Given the description of an element on the screen output the (x, y) to click on. 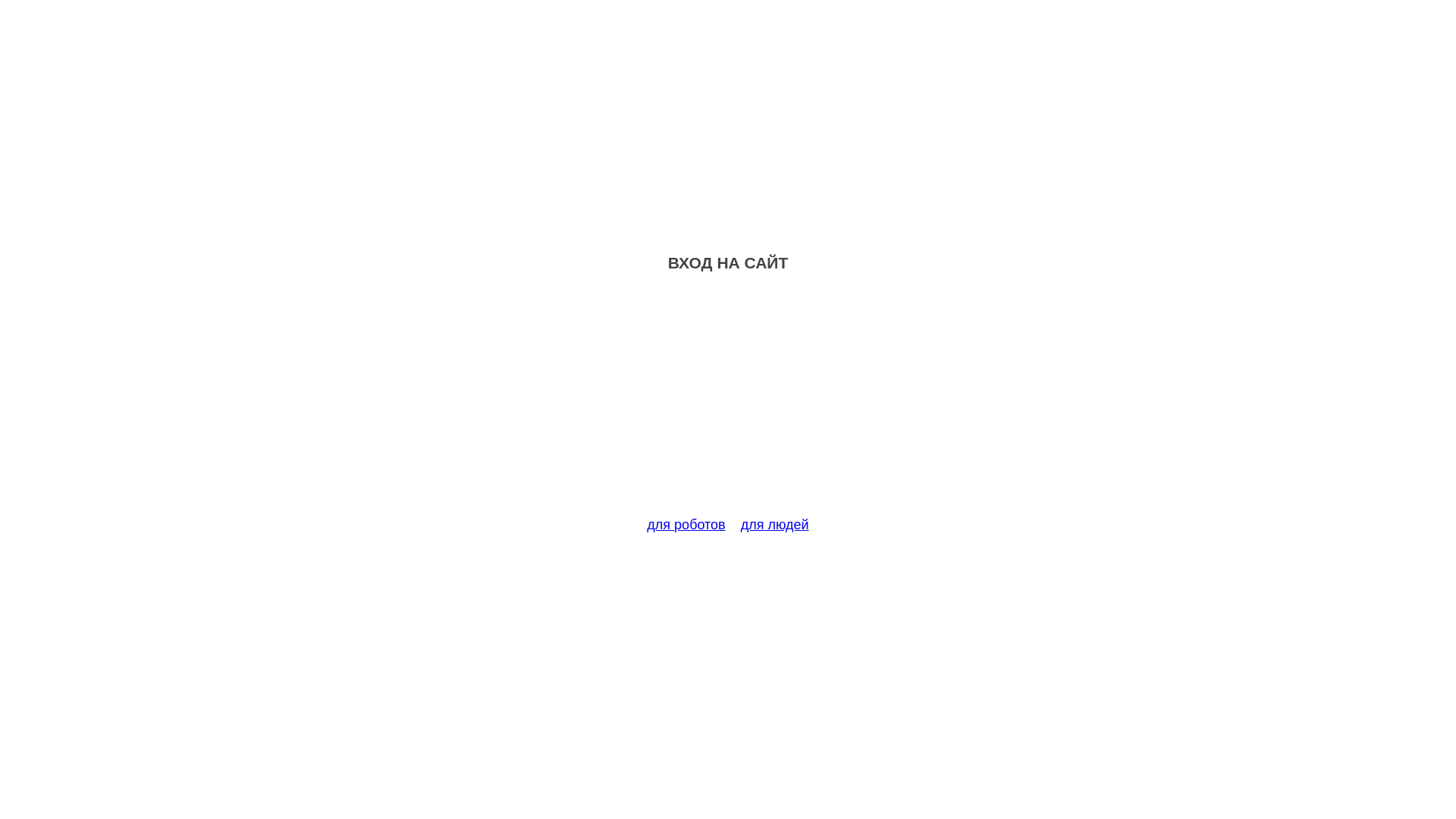
Advertisement Element type: hover (727, 403)
